Given the description of an element on the screen output the (x, y) to click on. 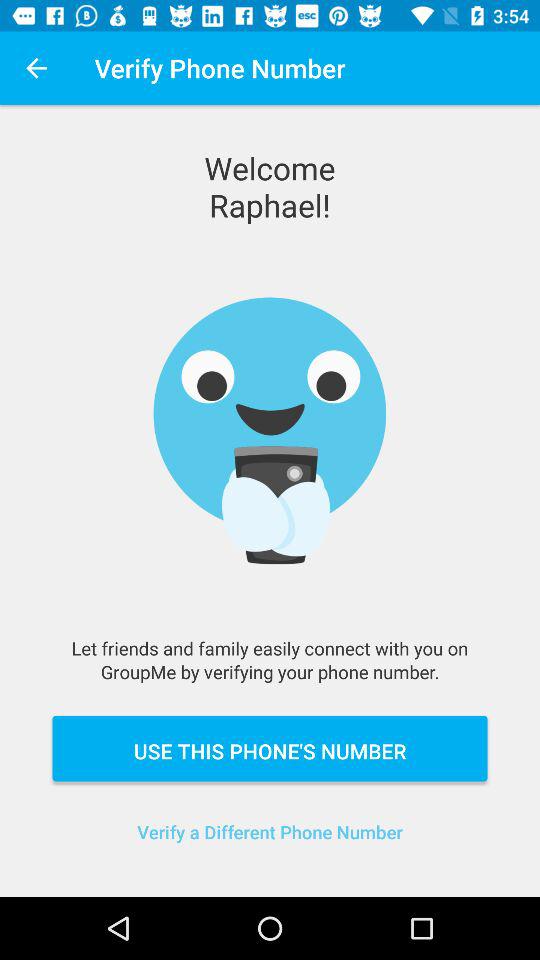
choose icon at the top left corner (36, 68)
